Given the description of an element on the screen output the (x, y) to click on. 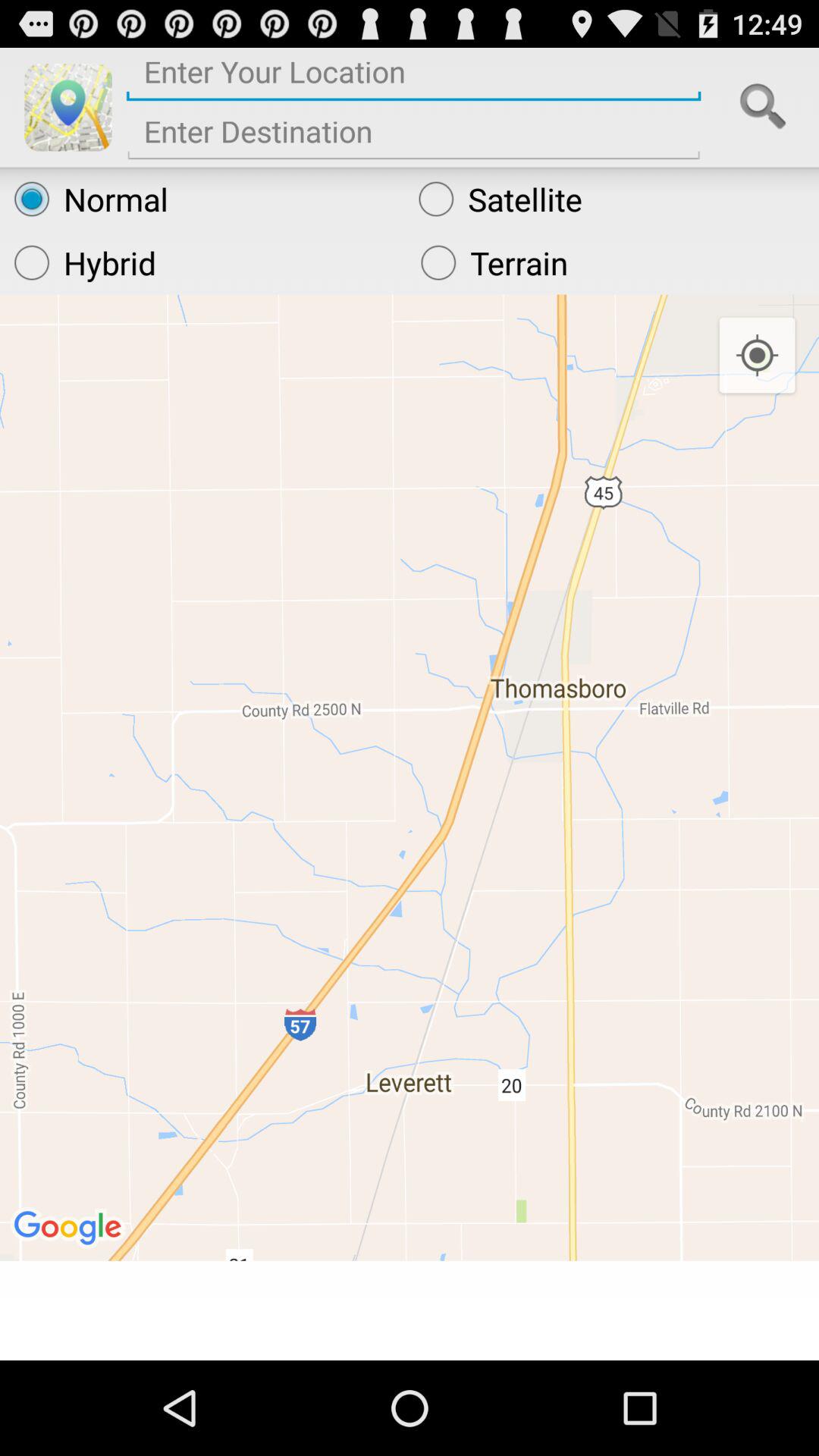
turn on the normal radio button (202, 198)
